Given the description of an element on the screen output the (x, y) to click on. 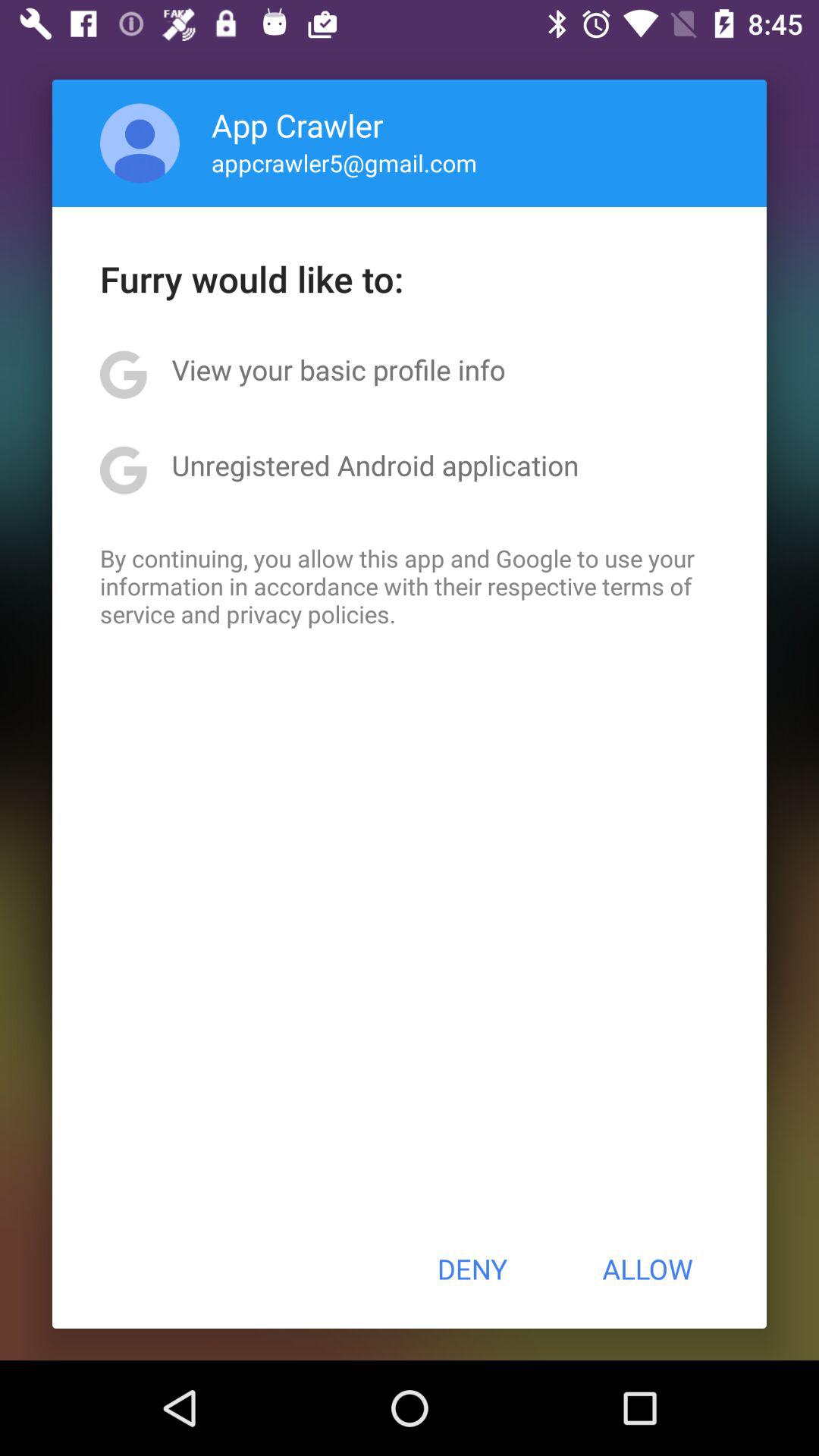
turn on the icon next to app crawler (139, 143)
